Given the description of an element on the screen output the (x, y) to click on. 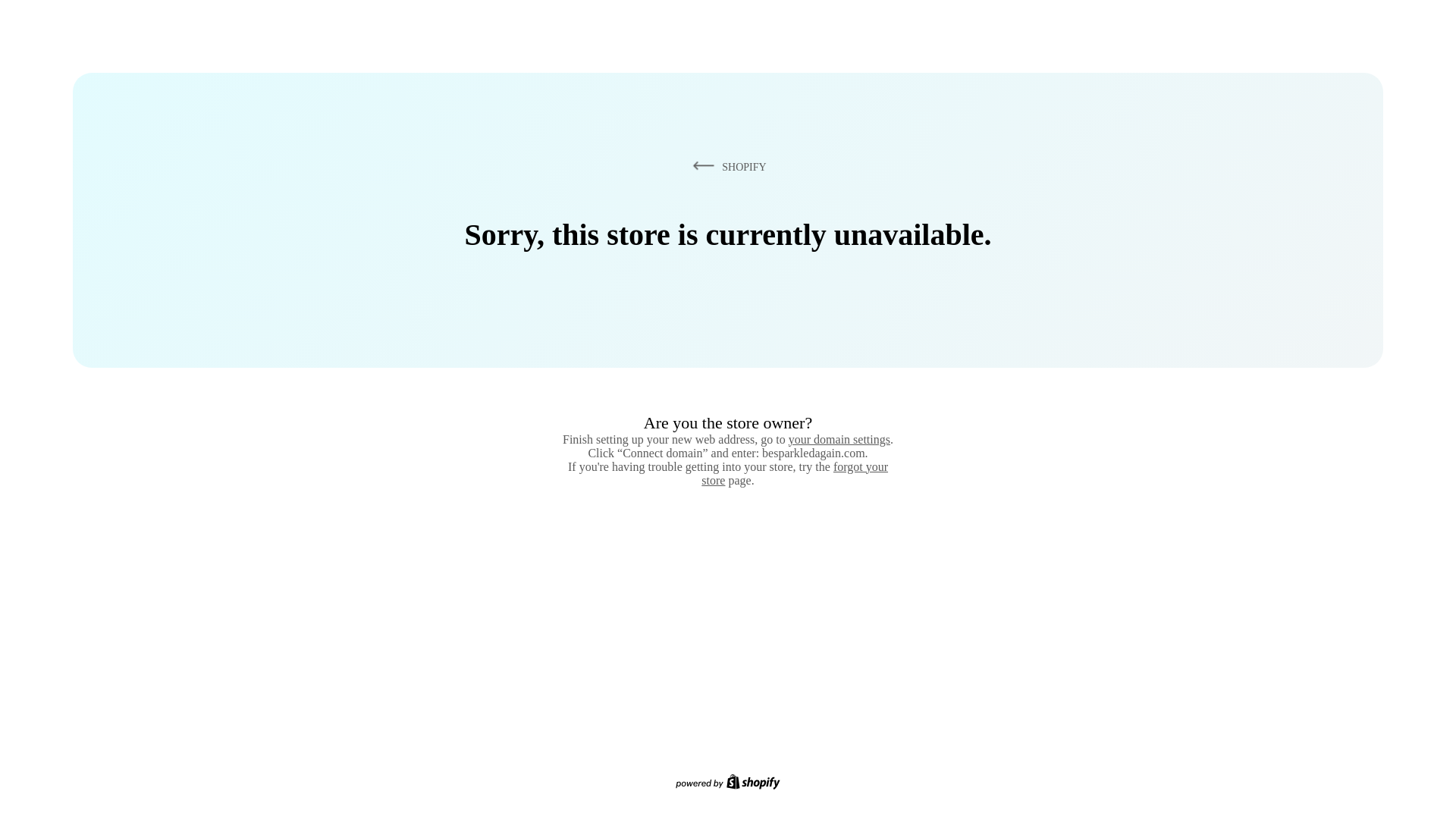
forgot your store (794, 473)
SHOPIFY (726, 166)
your domain settings (839, 439)
